Given the description of an element on the screen output the (x, y) to click on. 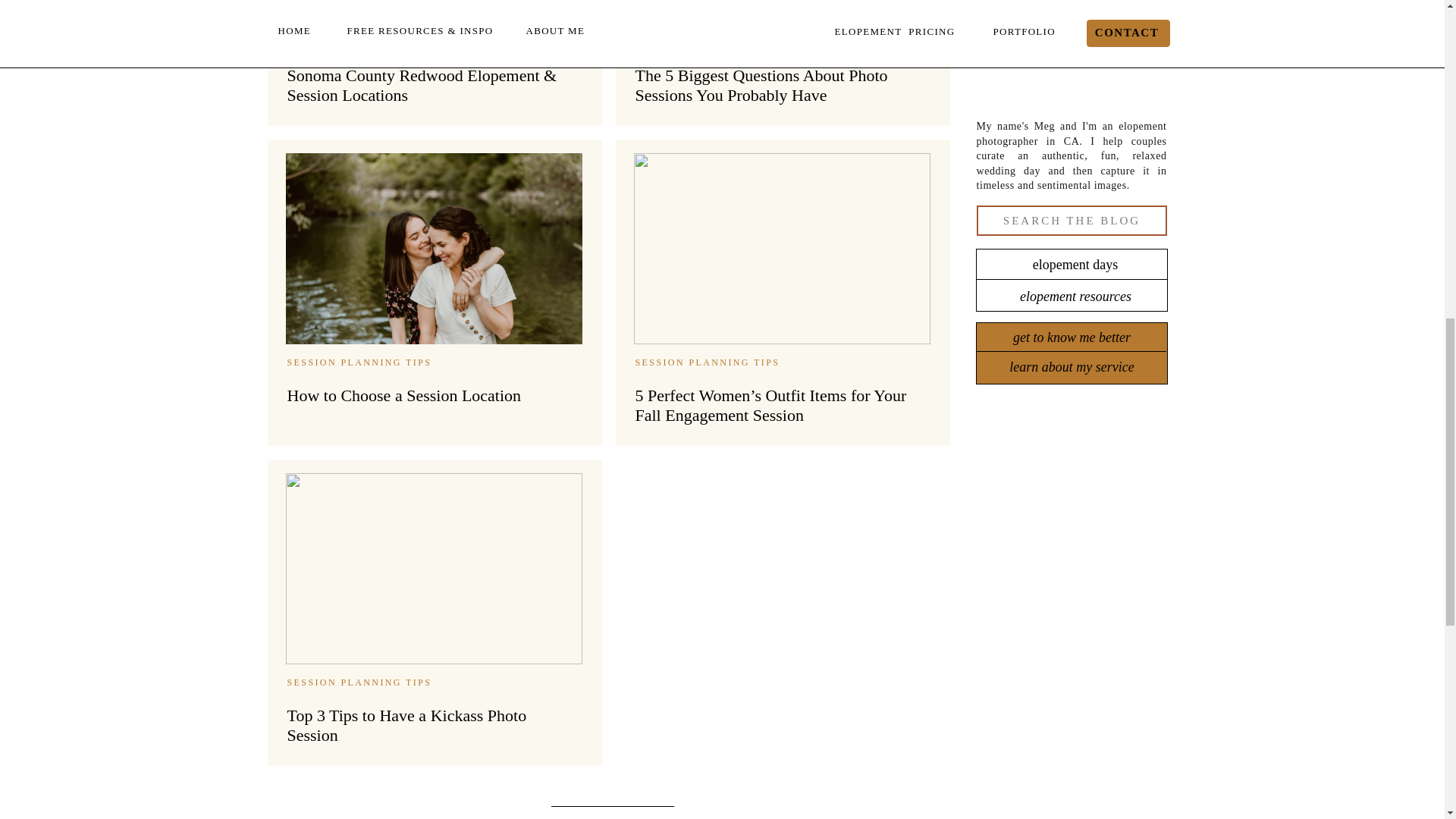
elopement resources (1075, 296)
learn about my service (1071, 366)
get to know me better (1071, 337)
ELOPEMENT PLANNING TIPS (368, 41)
elopement days (1075, 263)
Top 3 Tips to Have a Kickass Photo Session (432, 568)
How to Choose a Session Location (432, 248)
